Given the description of an element on the screen output the (x, y) to click on. 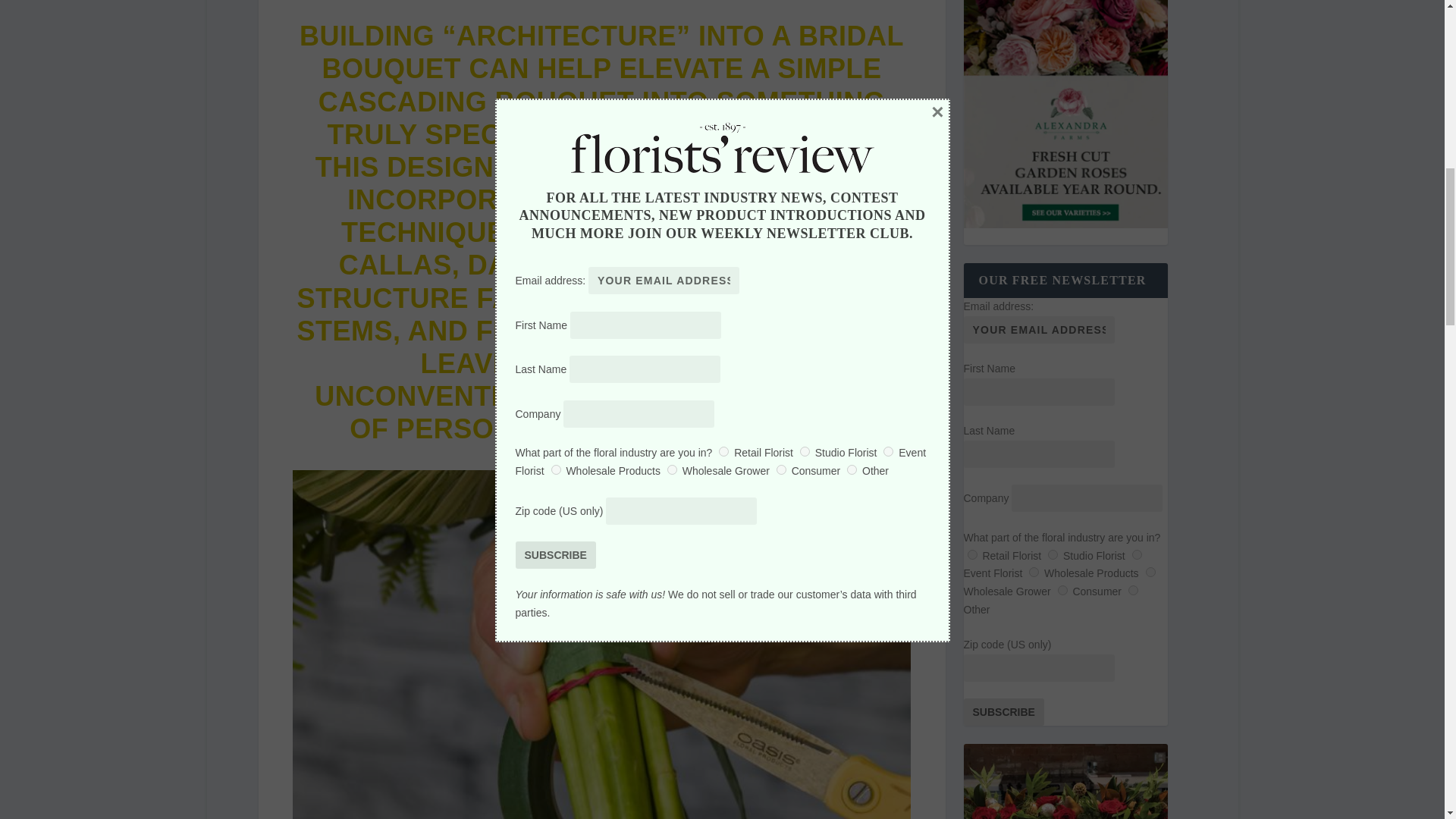
Retail Florist (972, 554)
